Given the description of an element on the screen output the (x, y) to click on. 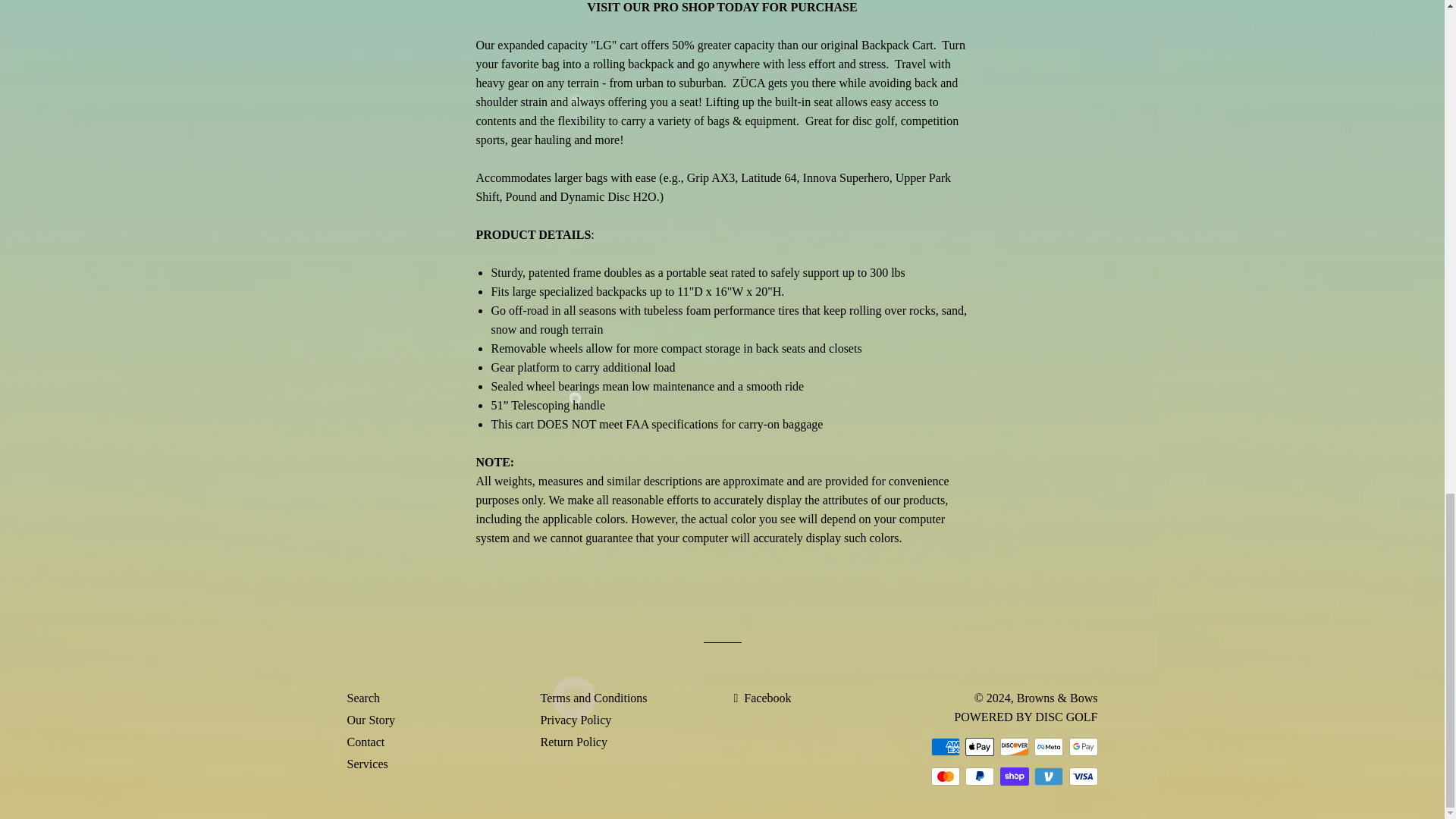
Mastercard (945, 775)
Meta Pay (1047, 746)
Shop Pay (1012, 775)
Apple Pay (979, 746)
PayPal (979, 775)
American Express (945, 746)
Google Pay (1082, 746)
Visa (1082, 775)
Venmo (1047, 775)
Discover (1012, 746)
